Given the description of an element on the screen output the (x, y) to click on. 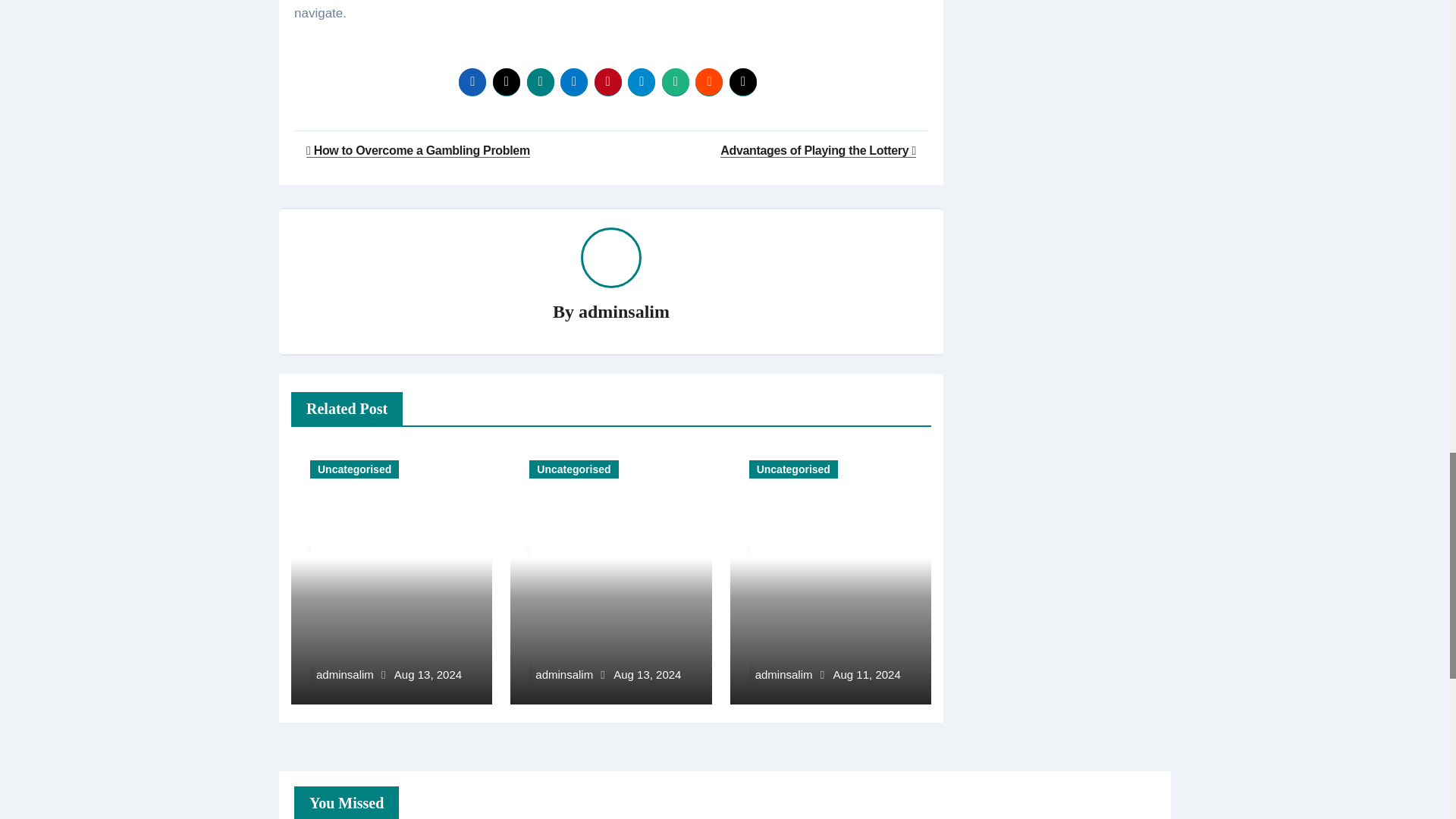
Permalink to: The Dangers of Gambling (804, 530)
Permalink to: The Price of Winning the Lottery (386, 530)
Permalink to: Sbobet Review (581, 540)
How to Overcome a Gambling Problem (417, 150)
